Given the description of an element on the screen output the (x, y) to click on. 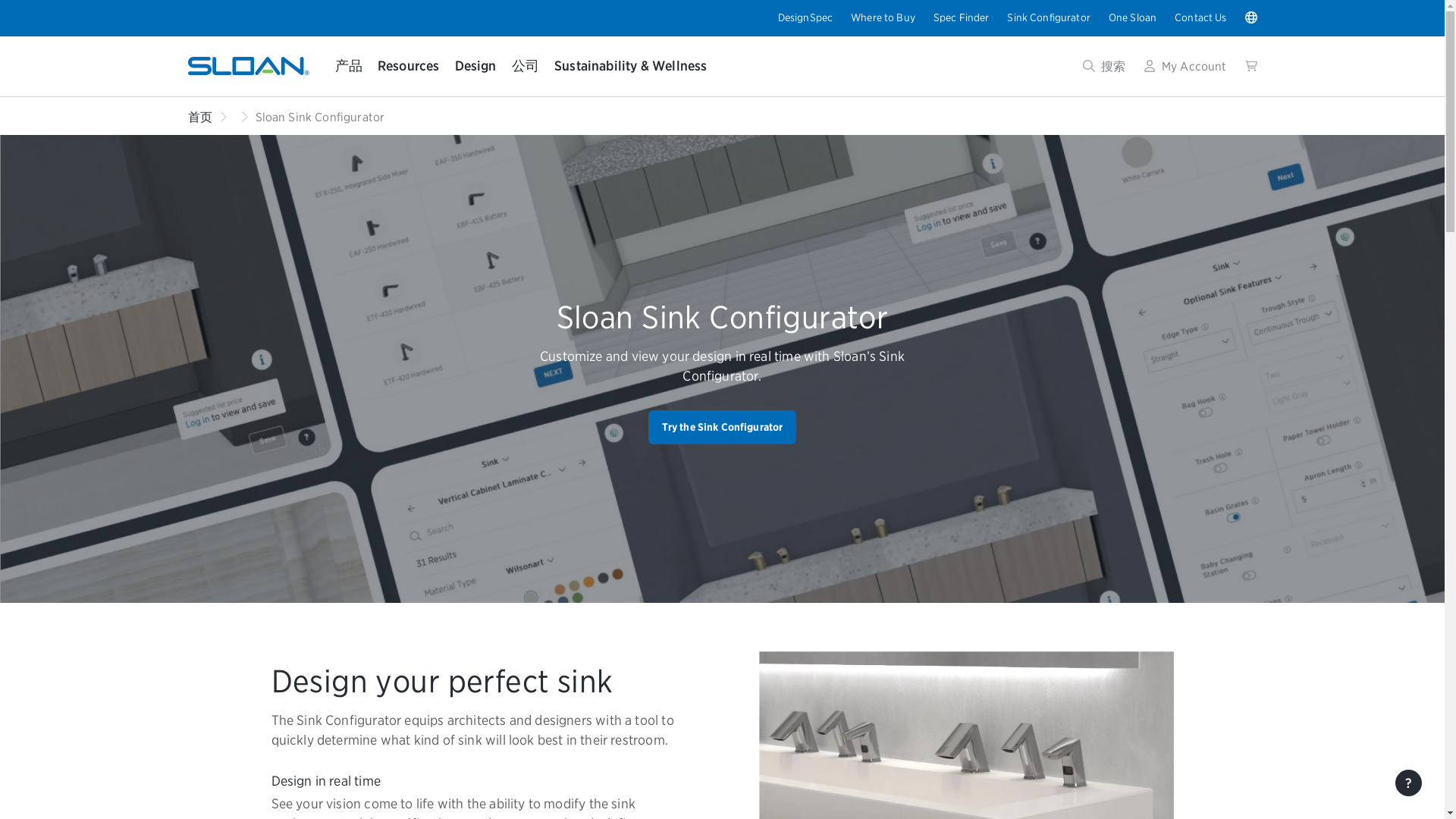
Sink Configurator (1048, 17)
Where to Buy (882, 17)
Resources (408, 66)
One Sloan (1132, 17)
My Account (1184, 66)
Contact Us (1199, 17)
Spec Finder (961, 17)
DesignSpec (804, 17)
